Given the description of an element on the screen output the (x, y) to click on. 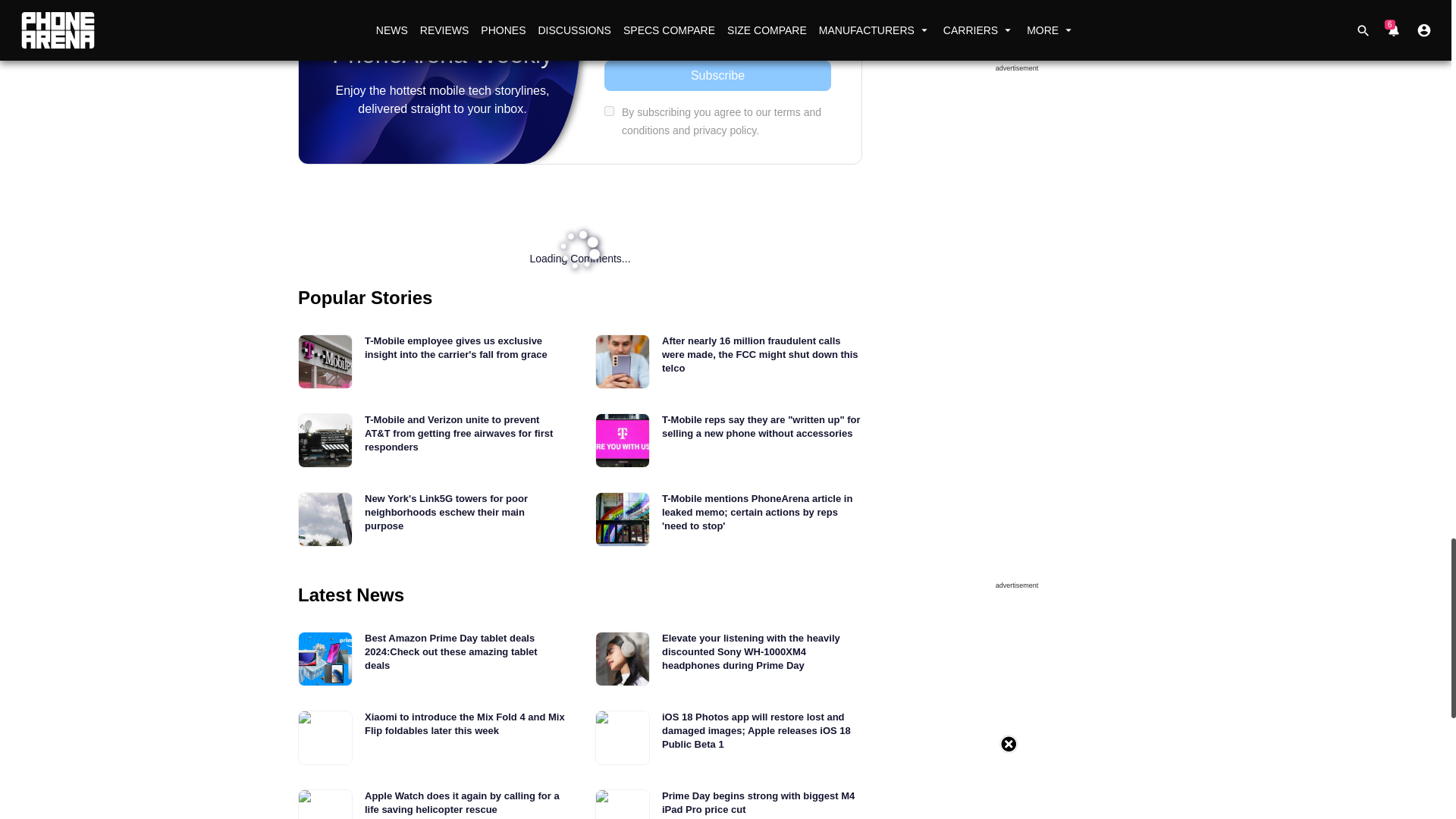
on (609, 111)
